Given the description of an element on the screen output the (x, y) to click on. 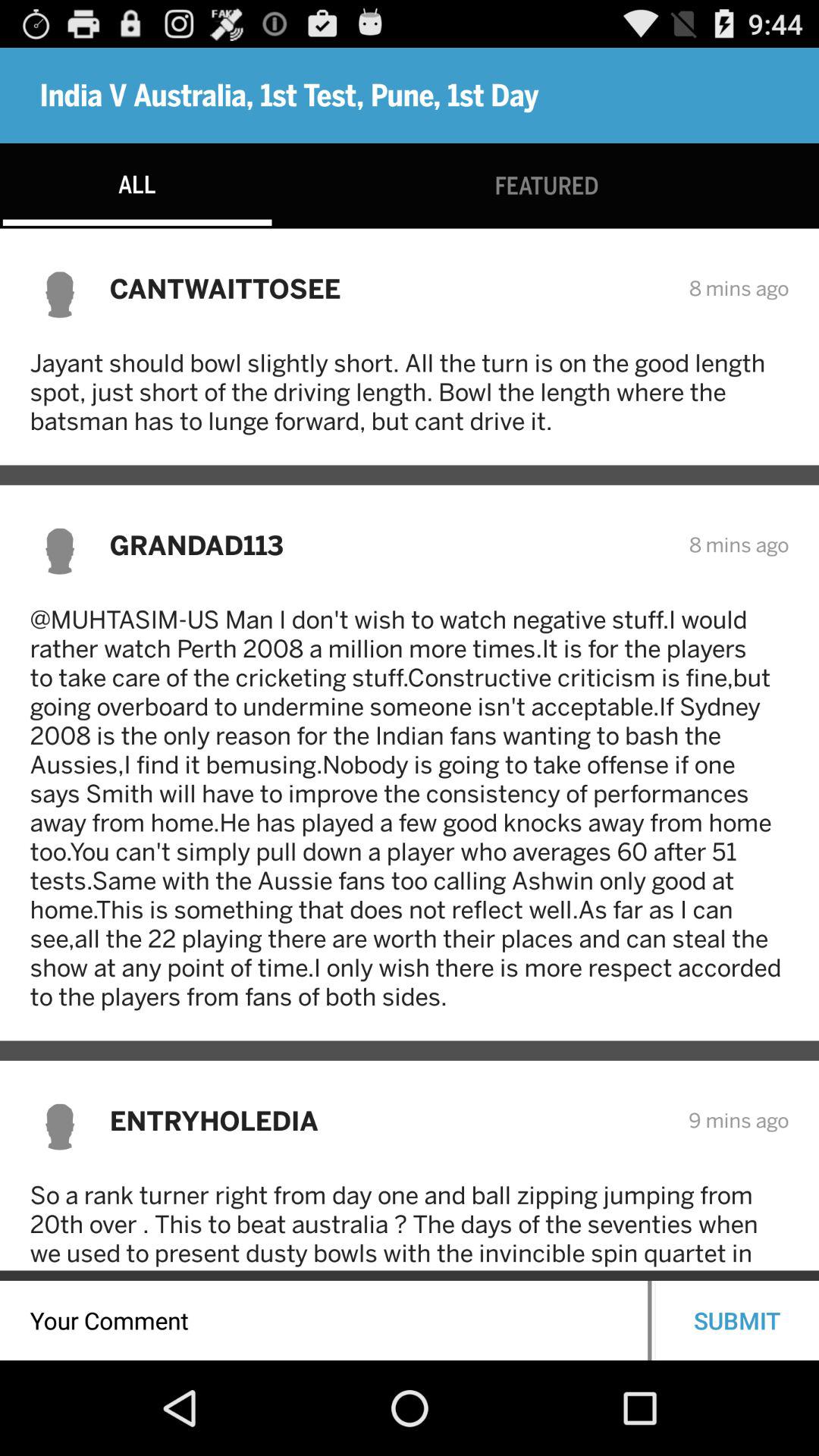
open item above so a rank item (388, 1120)
